Given the description of an element on the screen output the (x, y) to click on. 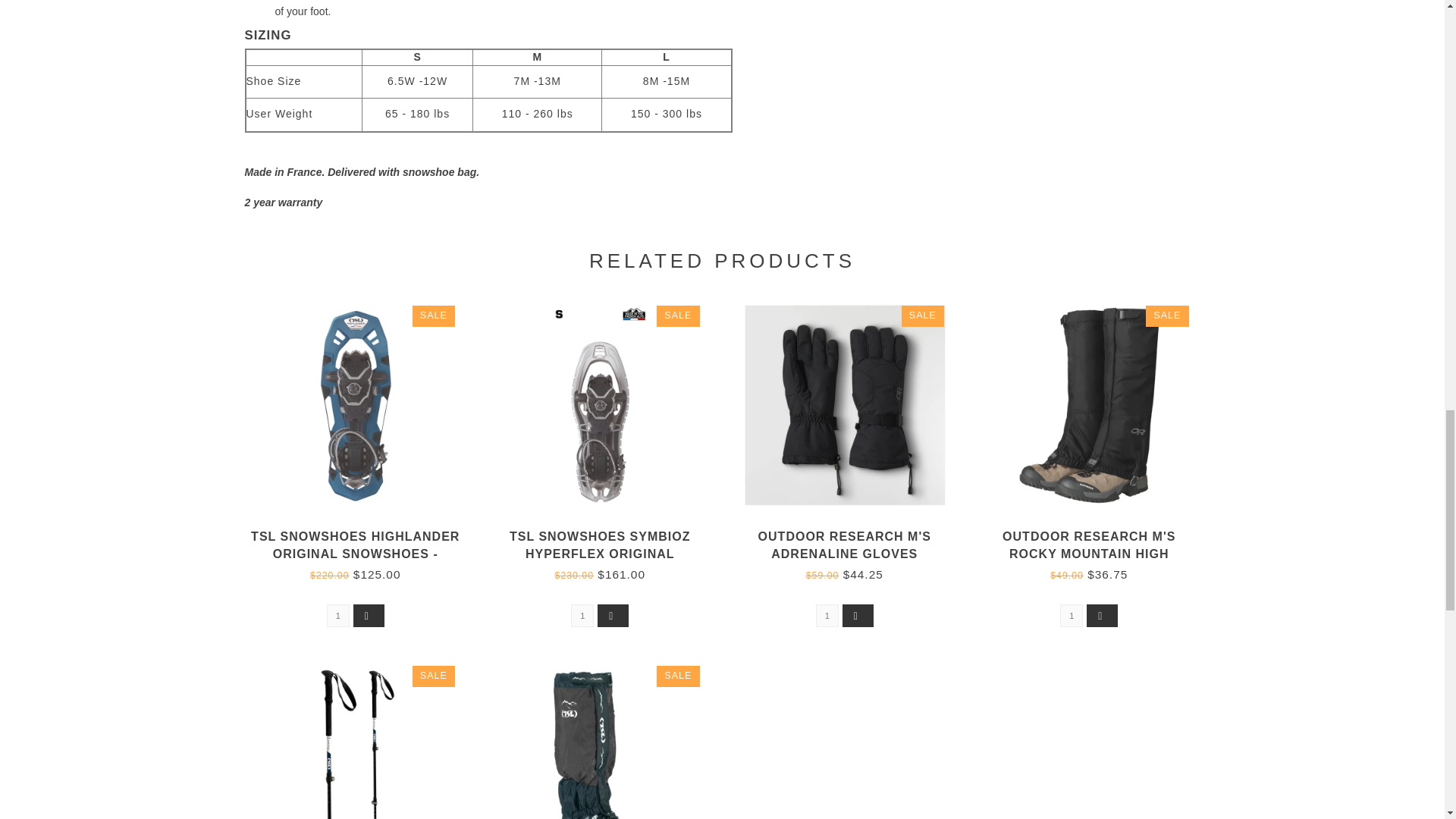
TSL Snowshoes Highlander Original Snowshoes - Closeout (366, 416)
TSL Snowshoes Highlander Original Snowshoes - Closeout (355, 553)
1 (337, 615)
Outdoor Research M's Rocky Mountain High Gaiters (1100, 416)
Outdoor Research M's Adrenaline Gloves (855, 416)
1 (826, 615)
TSL Snowshoes Hiking Alu 3 Cross Poles (366, 742)
Outdoor Research M's Adrenaline Gloves (844, 544)
Outdoor Research M's Rocky Mountain High Gaiters (1088, 553)
1 (1071, 615)
